Given the description of an element on the screen output the (x, y) to click on. 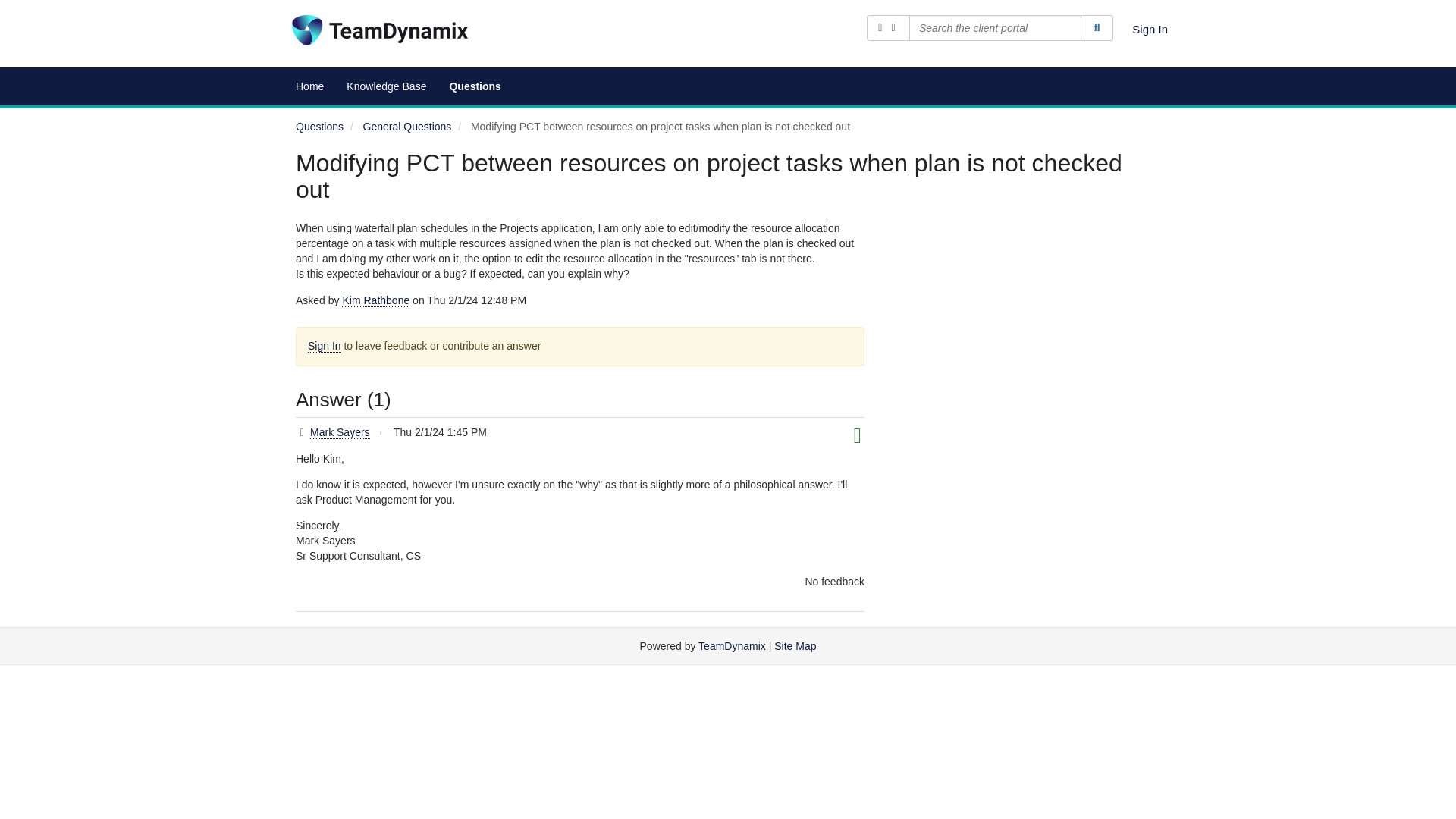
General Questions (406, 126)
Knowledge Base (386, 86)
Sign In (1149, 28)
Search (1096, 27)
Site Map (794, 645)
Filter your search by category. Current category: (888, 27)
Home (308, 86)
Kim Rathbone (375, 300)
Search (1096, 27)
TeamDynamix (731, 645)
